Given the description of an element on the screen output the (x, y) to click on. 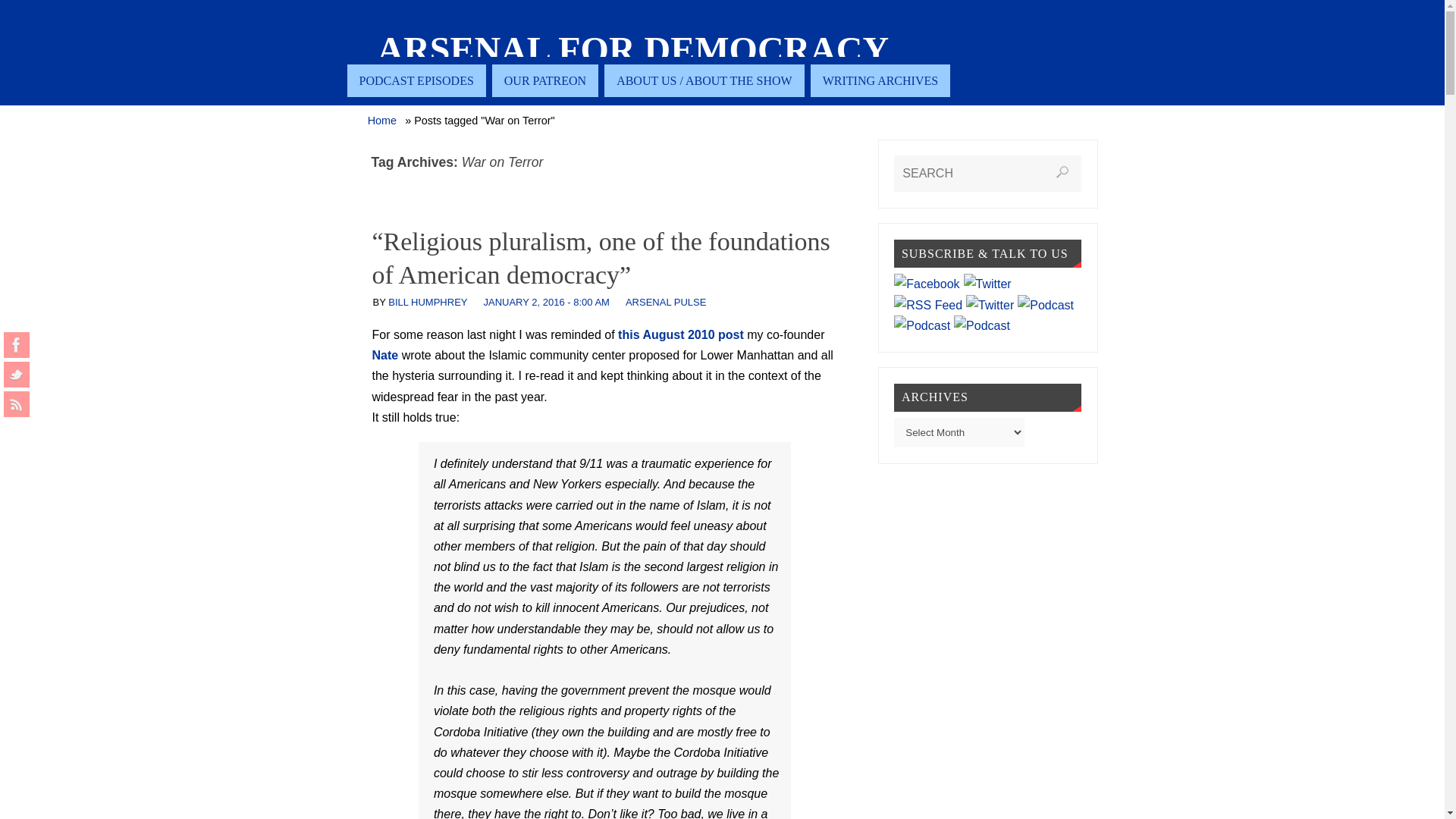
Arsenal For Democracy (633, 49)
AFD on Twitter (16, 374)
AFD RSS Feed (16, 403)
WRITING ARCHIVES (880, 80)
PODCAST EPISODES (416, 80)
ARSENAL FOR DEMOCRACY (633, 49)
JANUARY 2, 2016 - 8:00 AM (546, 301)
Nate (384, 354)
Home (382, 120)
BILL HUMPHREY (427, 301)
ARSENAL PULSE (666, 301)
OUR PATREON (545, 80)
View all posts by Bill Humphrey (427, 301)
this August 2010 post (680, 334)
AFD on Facebook (16, 344)
